Given the description of an element on the screen output the (x, y) to click on. 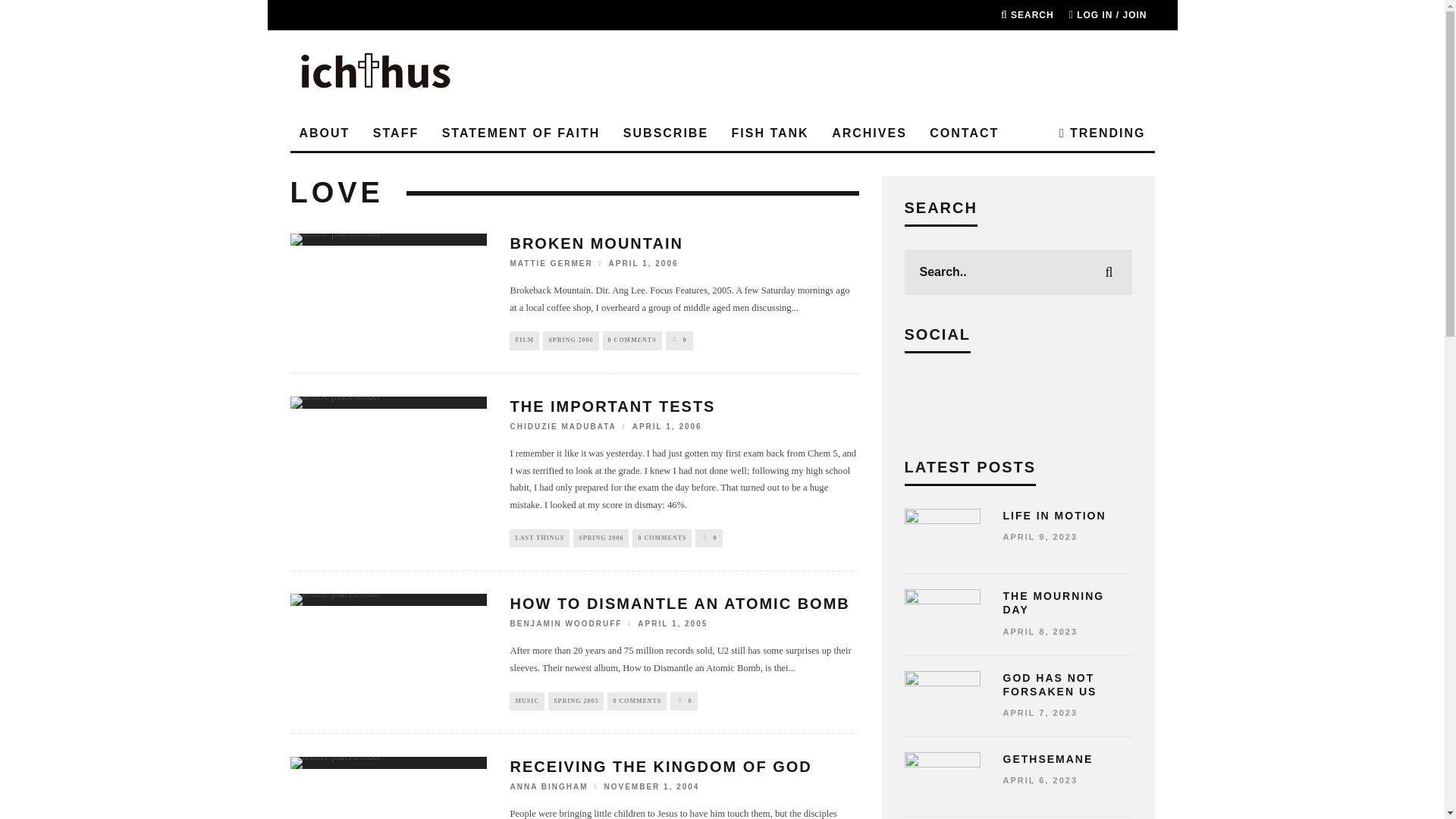
View all posts in Spring 2006 (570, 340)
CONTACT (963, 133)
STAFF (396, 133)
SEARCH (1027, 15)
FISH TANK (770, 133)
STATEMENT OF FAITH (521, 133)
ABOUT (323, 133)
View all posts in Spring 2005 (576, 701)
Log In (721, 422)
View all posts in Music (526, 701)
